Given the description of an element on the screen output the (x, y) to click on. 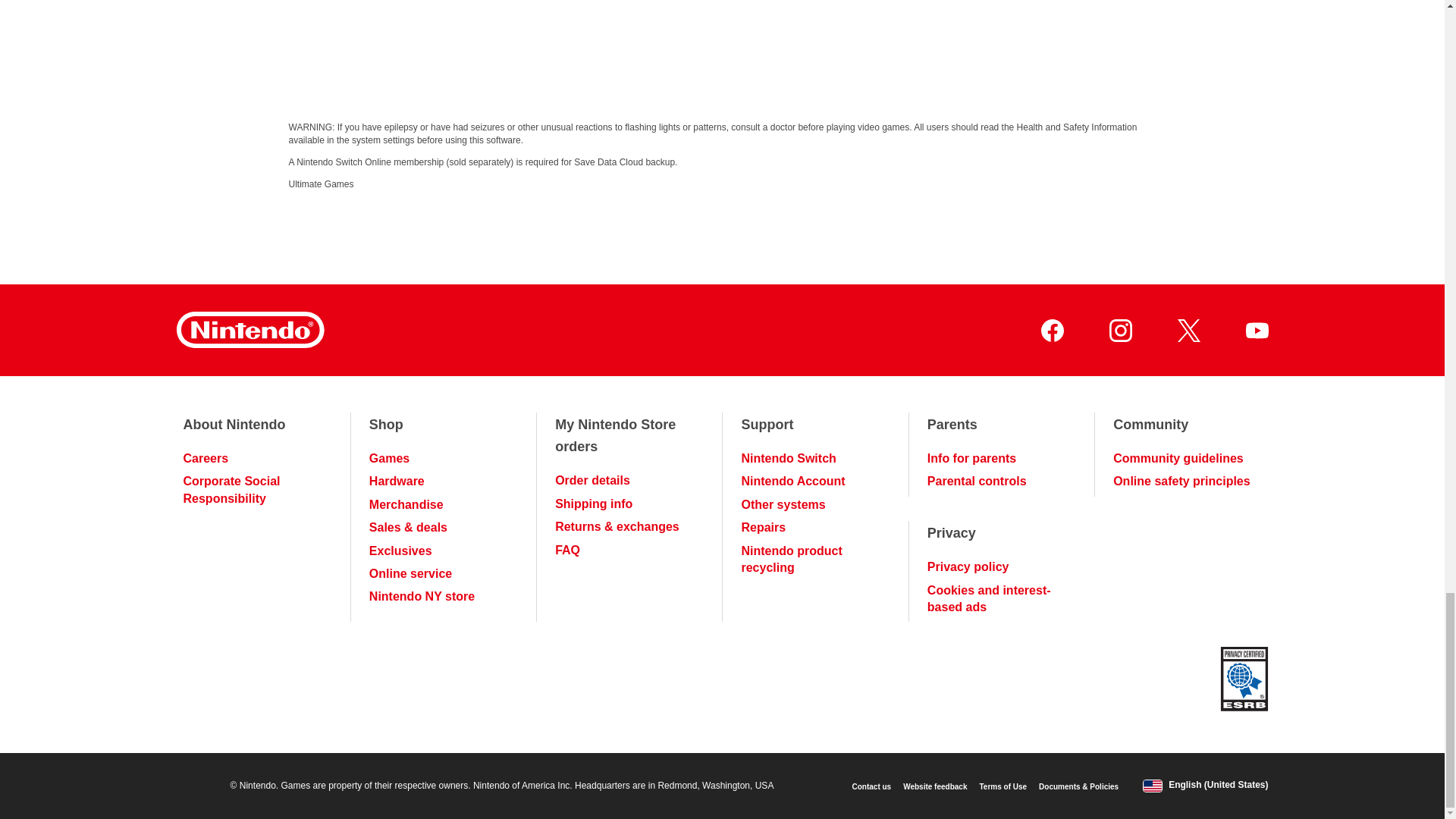
Nintendo Homepage (249, 330)
Nintendo on Twitter (1187, 330)
Nintendo on Instagram (1119, 330)
Nintendo on Facebook (1051, 330)
Nintendo on YouTube (1256, 330)
